Given the description of an element on the screen output the (x, y) to click on. 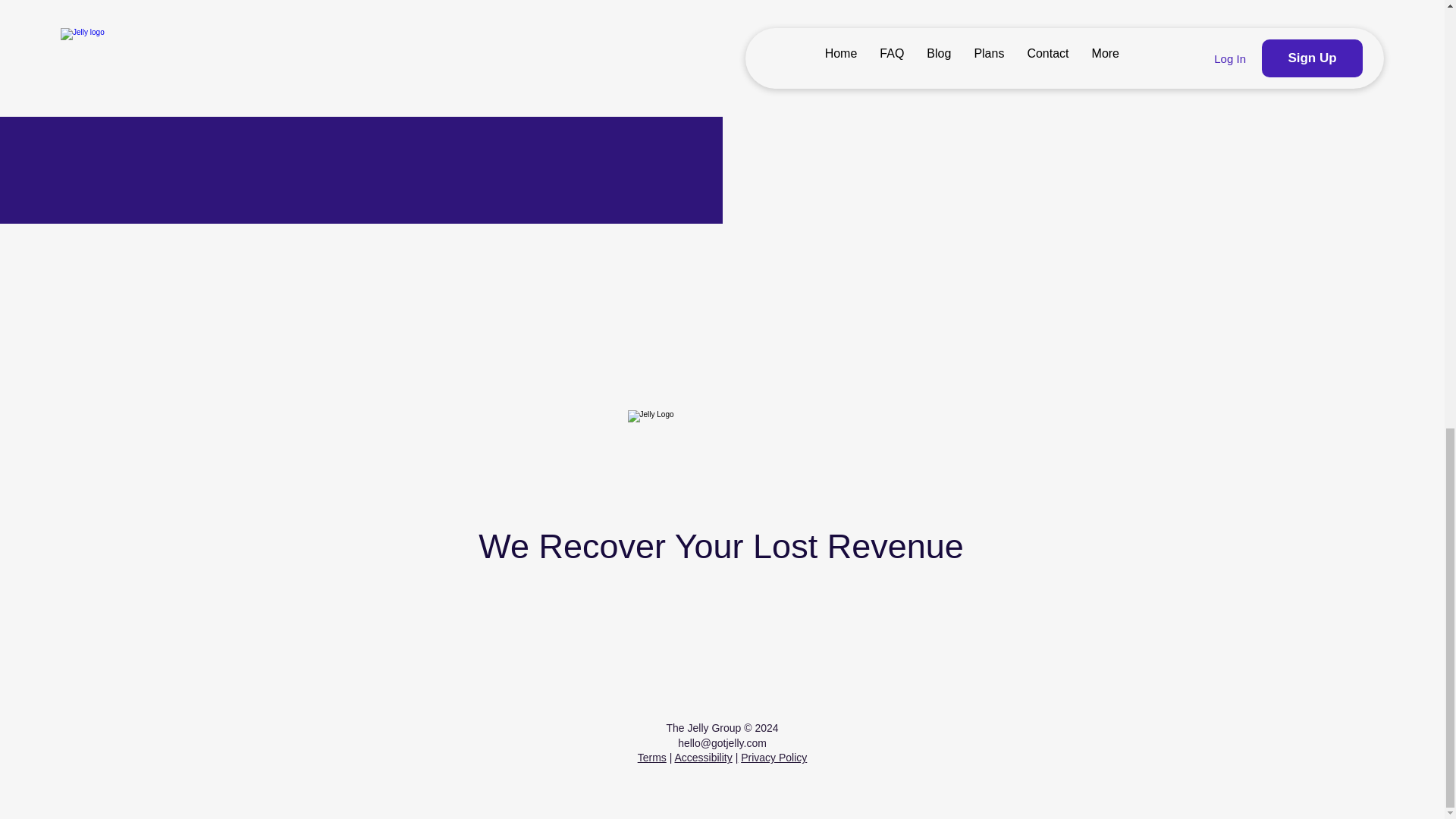
Terms (651, 757)
Accessibility (703, 757)
Privacy Policy (773, 757)
